Given the description of an element on the screen output the (x, y) to click on. 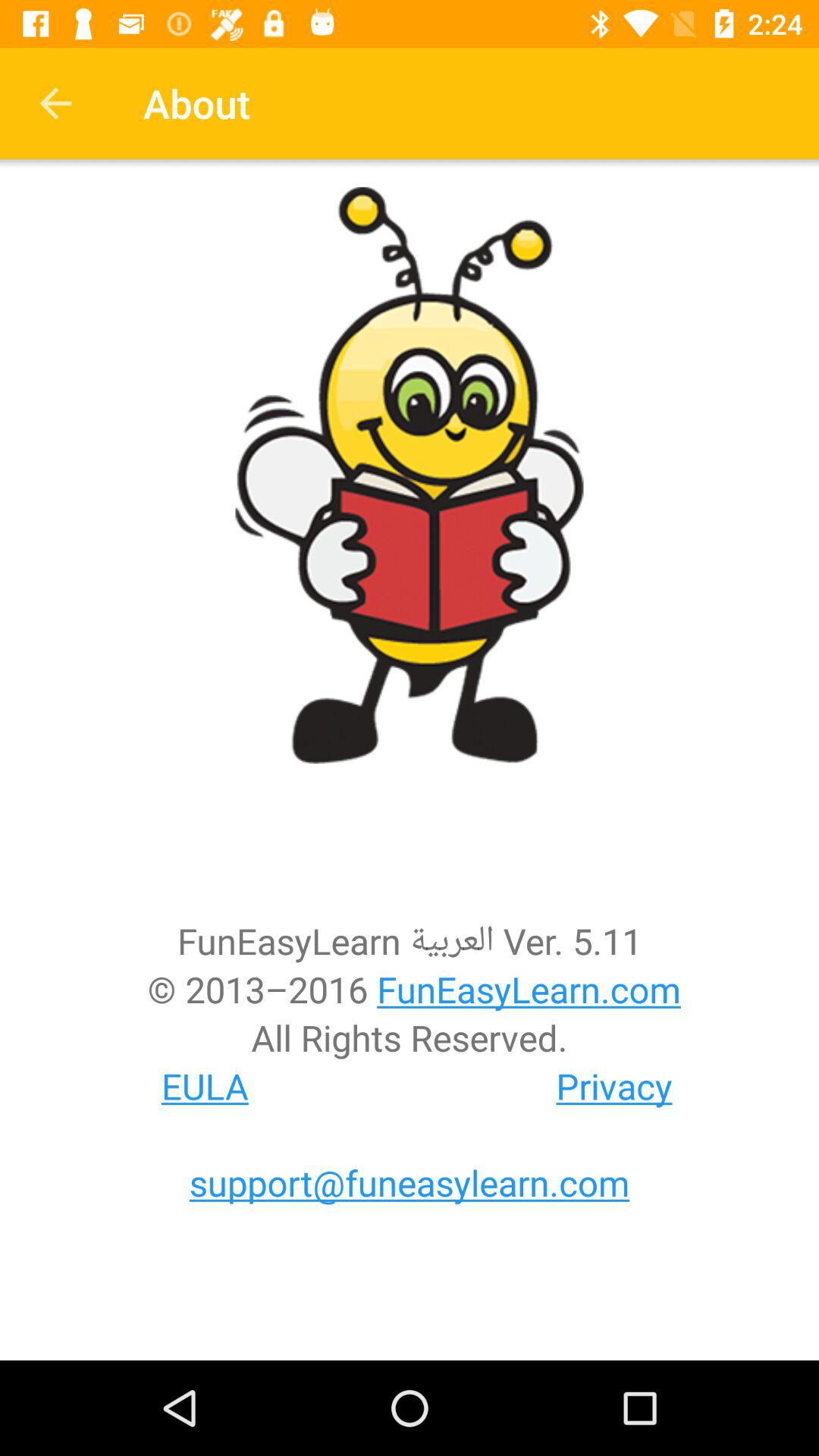
turn on the privacy (614, 1085)
